Given the description of an element on the screen output the (x, y) to click on. 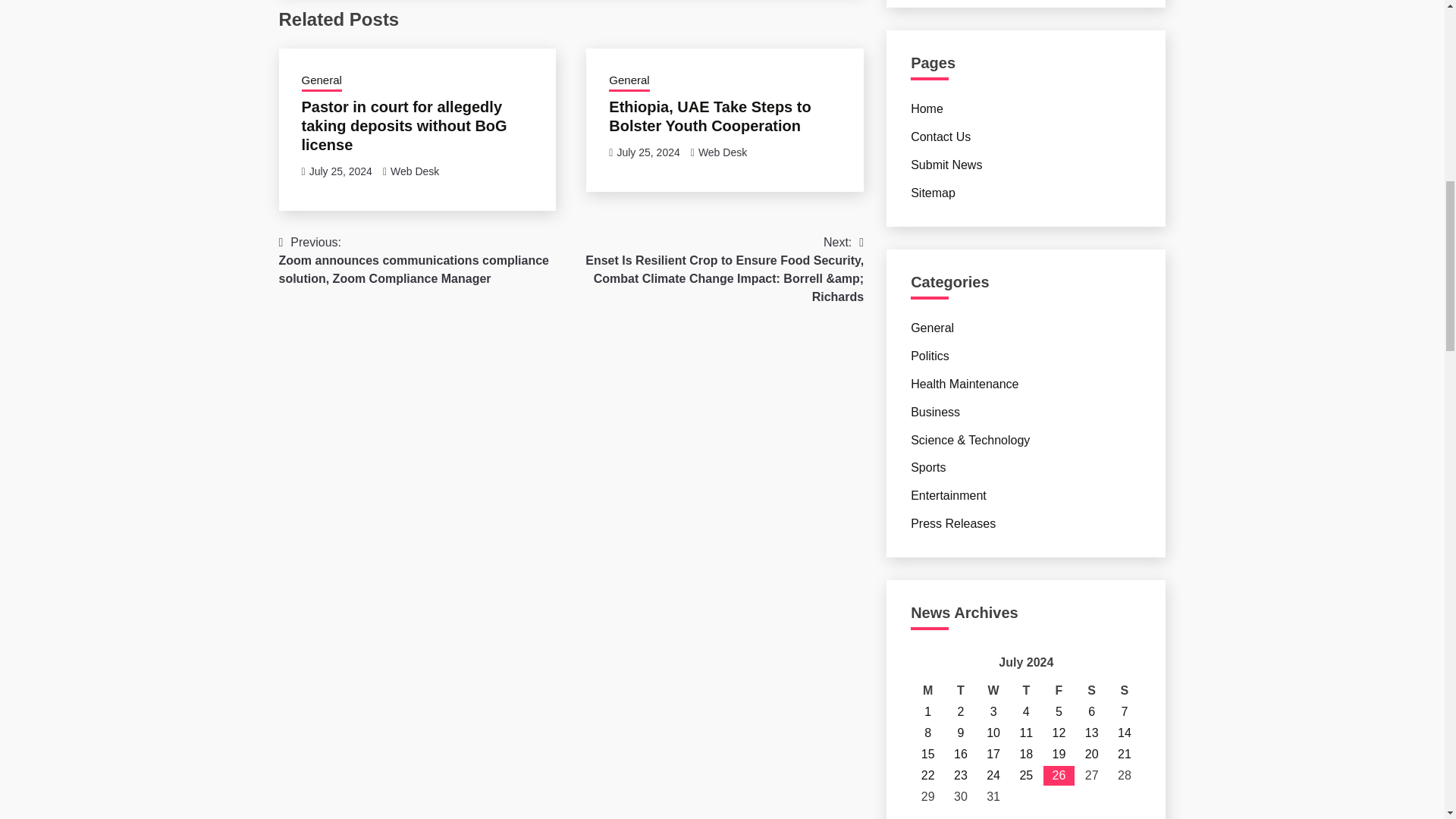
Wednesday (993, 690)
Thursday (1026, 690)
July 25, 2024 (340, 171)
Web Desk (722, 152)
Friday (1058, 690)
Ethiopia, UAE Take Steps to Bolster Youth Cooperation (709, 116)
Monday (927, 690)
General (321, 81)
Tuesday (959, 690)
General (628, 81)
Home (927, 108)
Saturday (1090, 690)
Web Desk (414, 171)
